Given the description of an element on the screen output the (x, y) to click on. 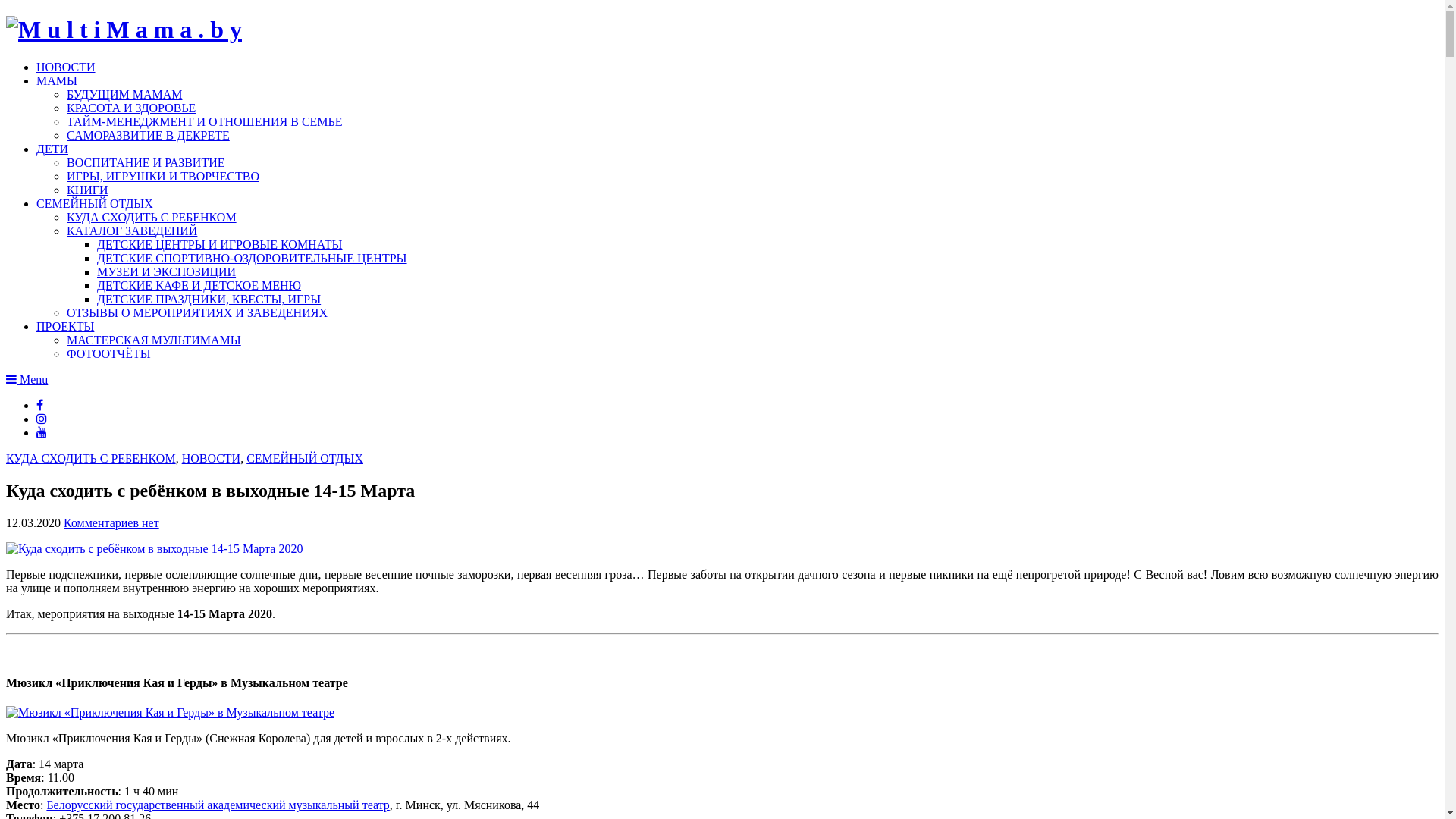
Menu Element type: text (26, 379)
